Given the description of an element on the screen output the (x, y) to click on. 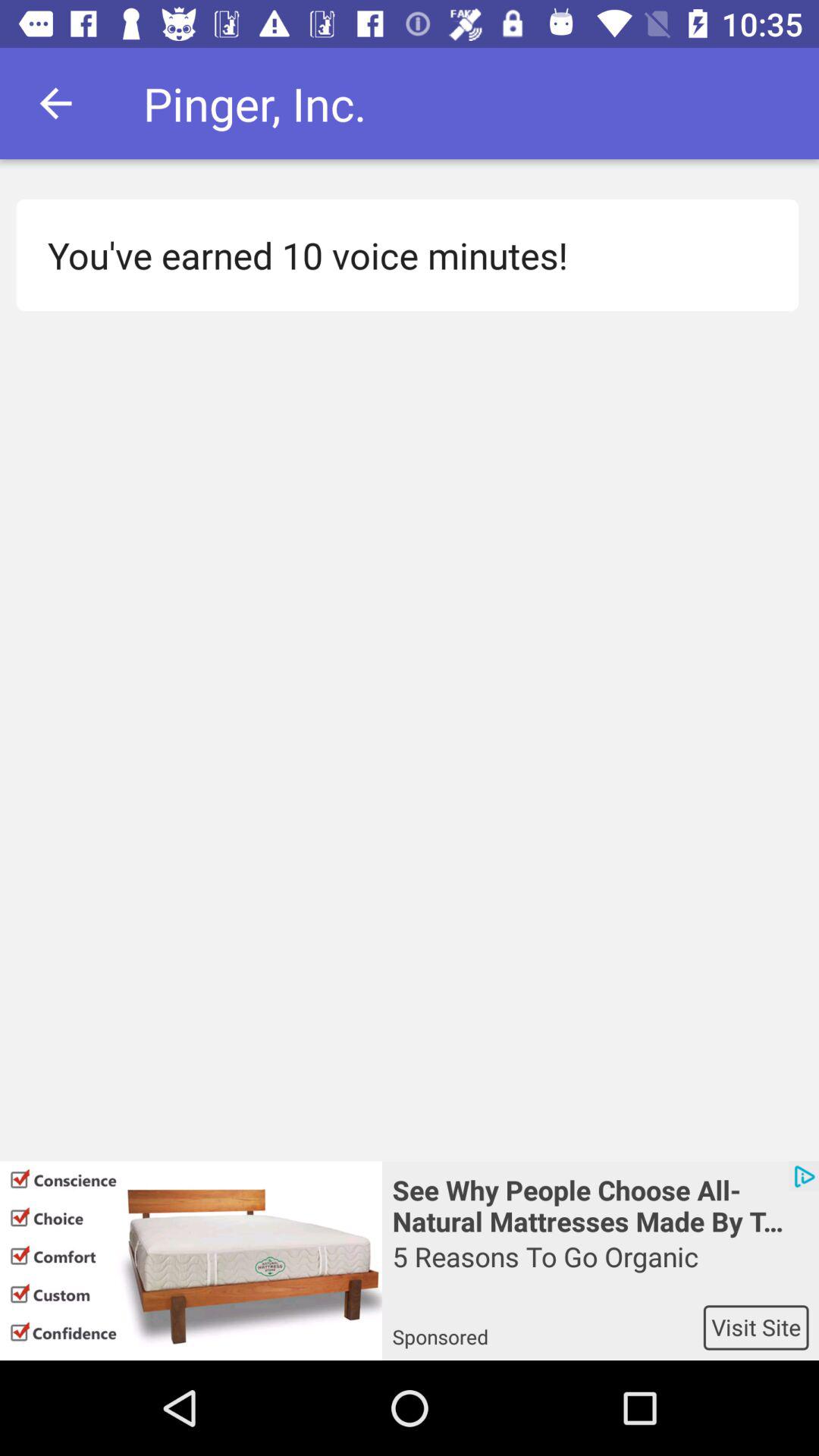
press the visit site app (755, 1327)
